Given the description of an element on the screen output the (x, y) to click on. 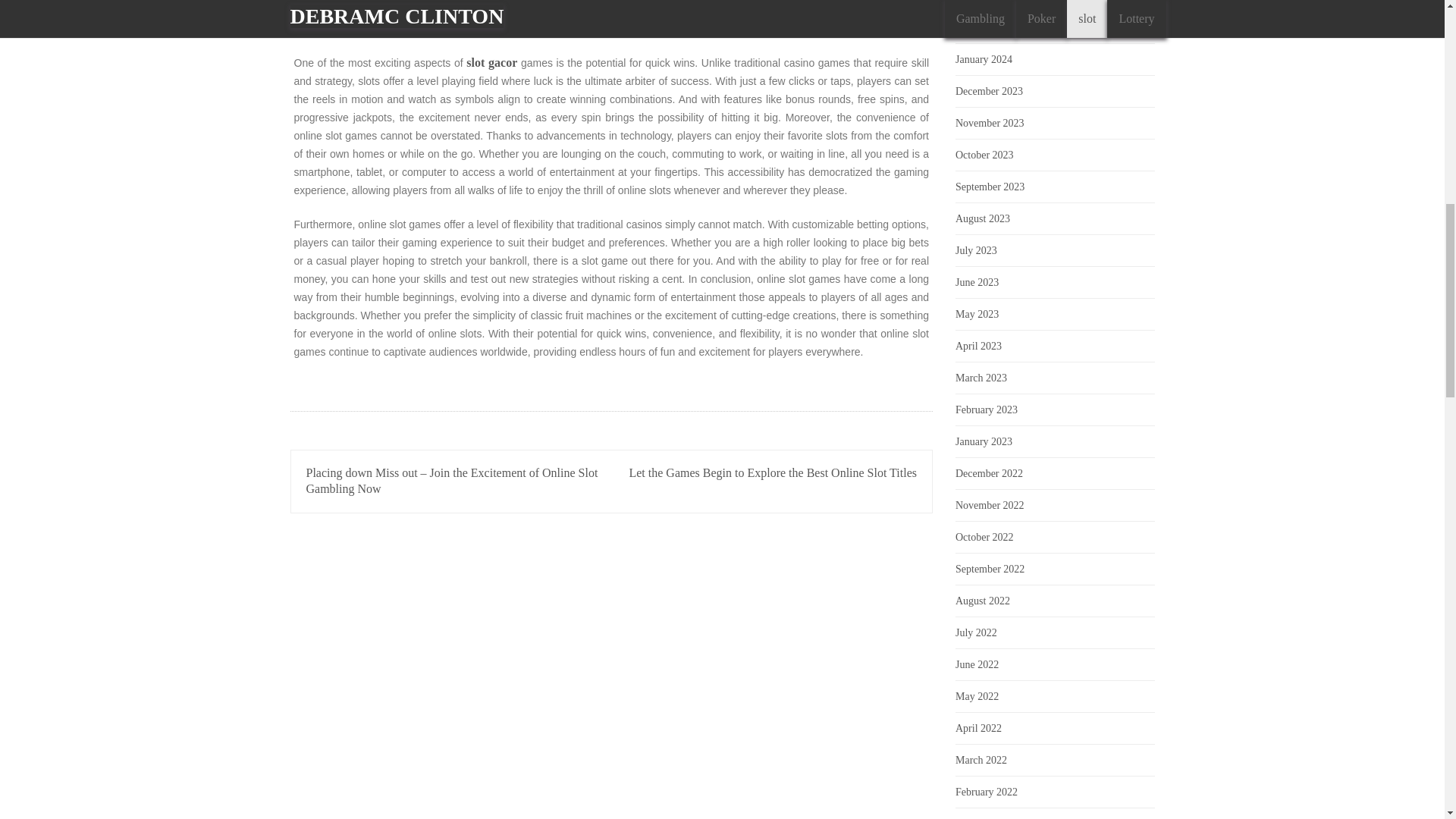
September 2022 (990, 568)
May 2023 (976, 314)
December 2023 (989, 91)
January 2023 (983, 441)
August 2023 (982, 218)
October 2022 (984, 536)
October 2023 (984, 154)
June 2023 (976, 282)
February 2023 (986, 409)
April 2023 (978, 346)
December 2022 (989, 473)
Let the Games Begin to Explore the Best Online Slot Titles (772, 472)
September 2023 (990, 186)
November 2022 (990, 505)
March 2023 (981, 378)
